Given the description of an element on the screen output the (x, y) to click on. 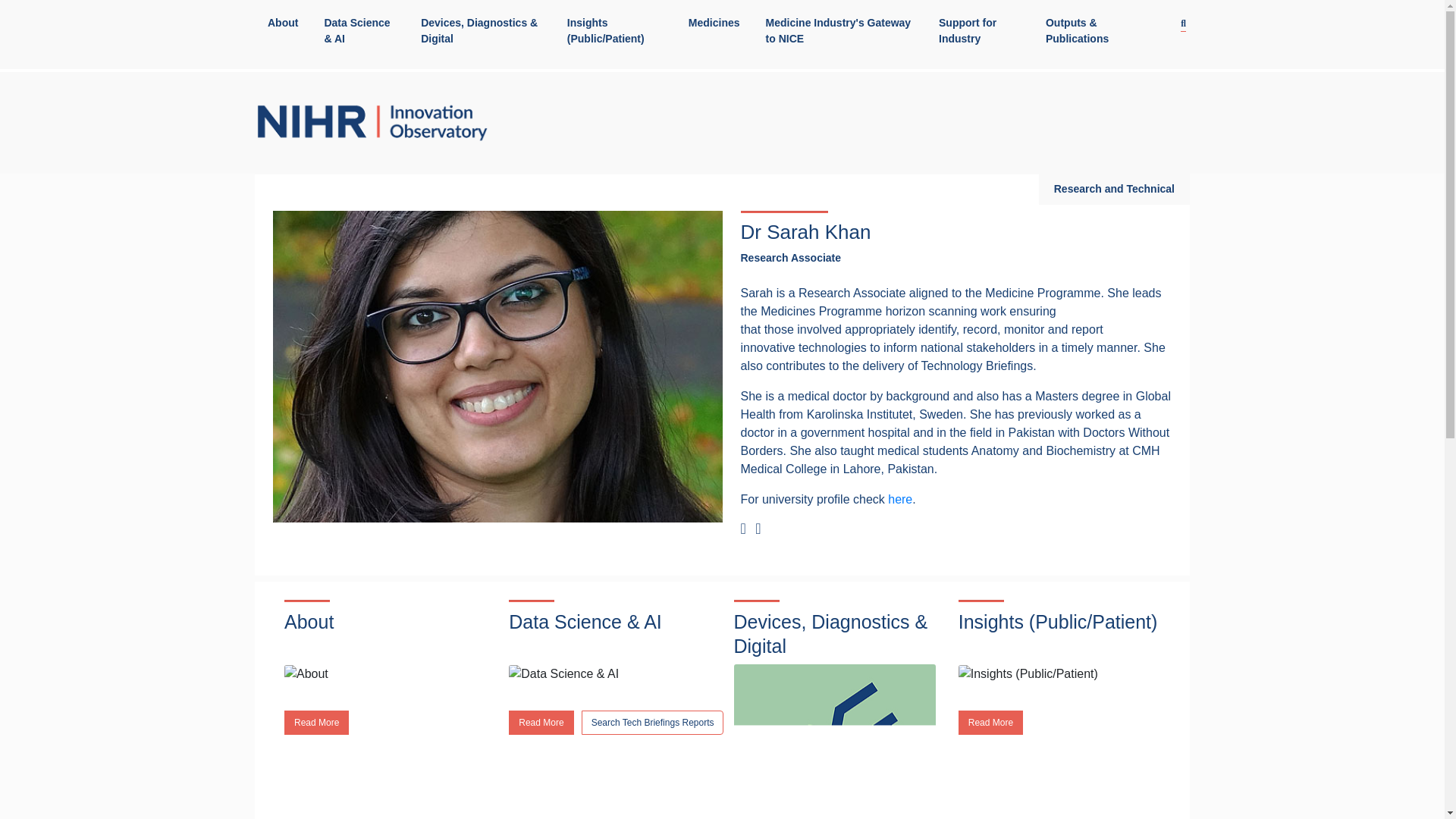
About (282, 23)
Medicine Industry's Gateway to NICE (838, 31)
Support for Industry (979, 31)
Medicines (713, 23)
